Given the description of an element on the screen output the (x, y) to click on. 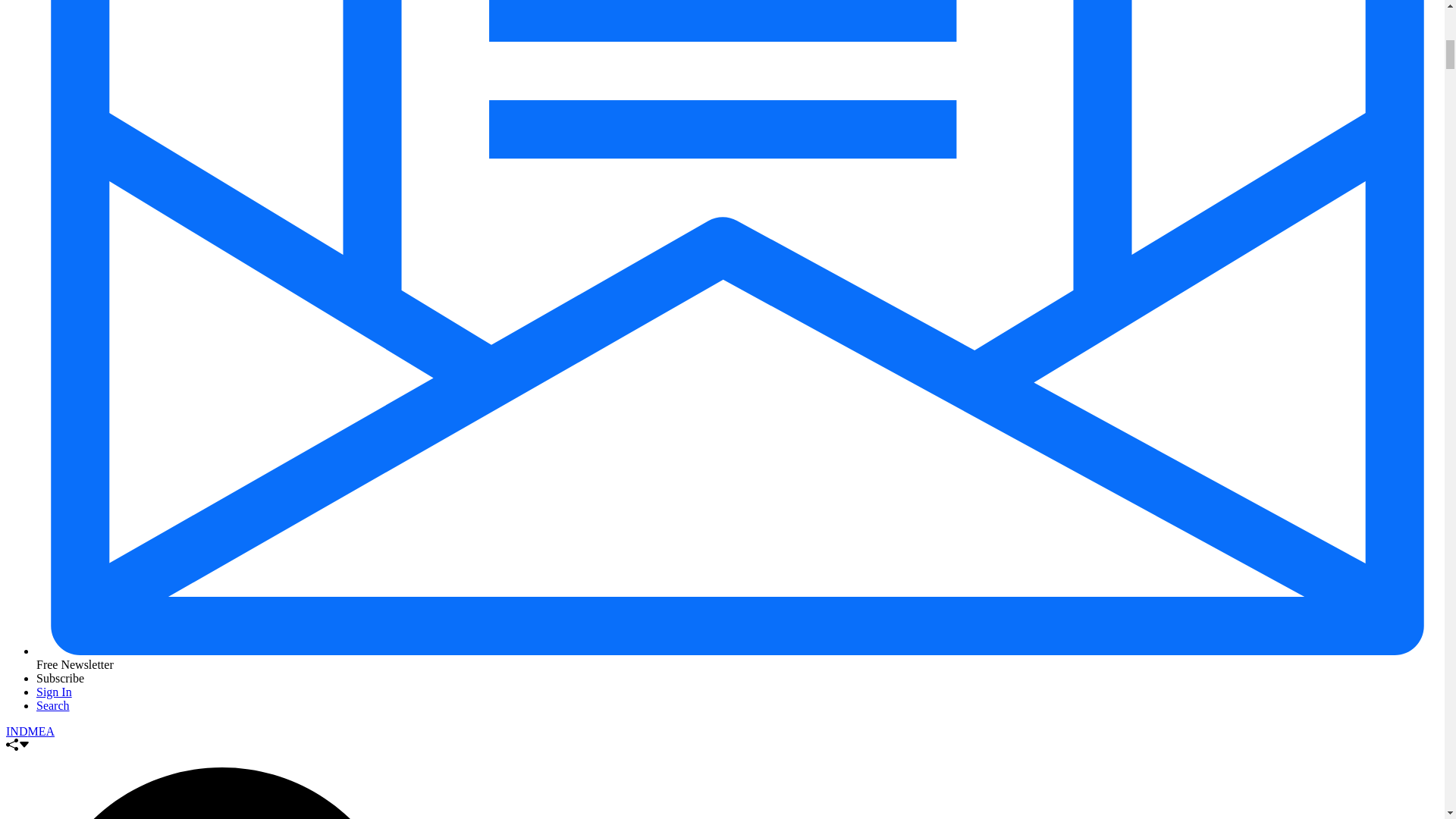
Subscribe (60, 677)
IND (16, 730)
Search (52, 705)
MEA (41, 730)
Sign In (53, 691)
